Given the description of an element on the screen output the (x, y) to click on. 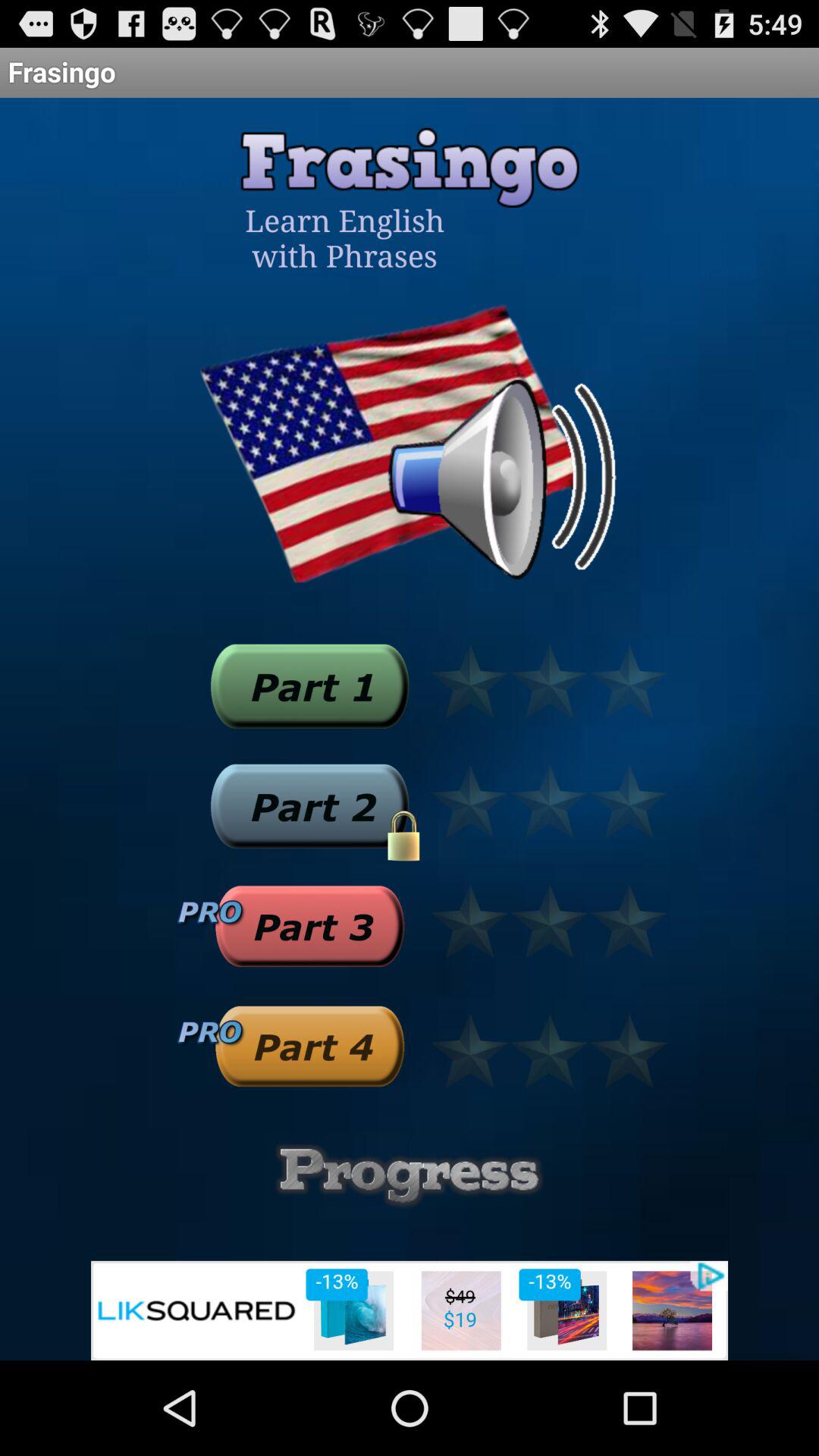
click for part 1 (309, 686)
